Given the description of an element on the screen output the (x, y) to click on. 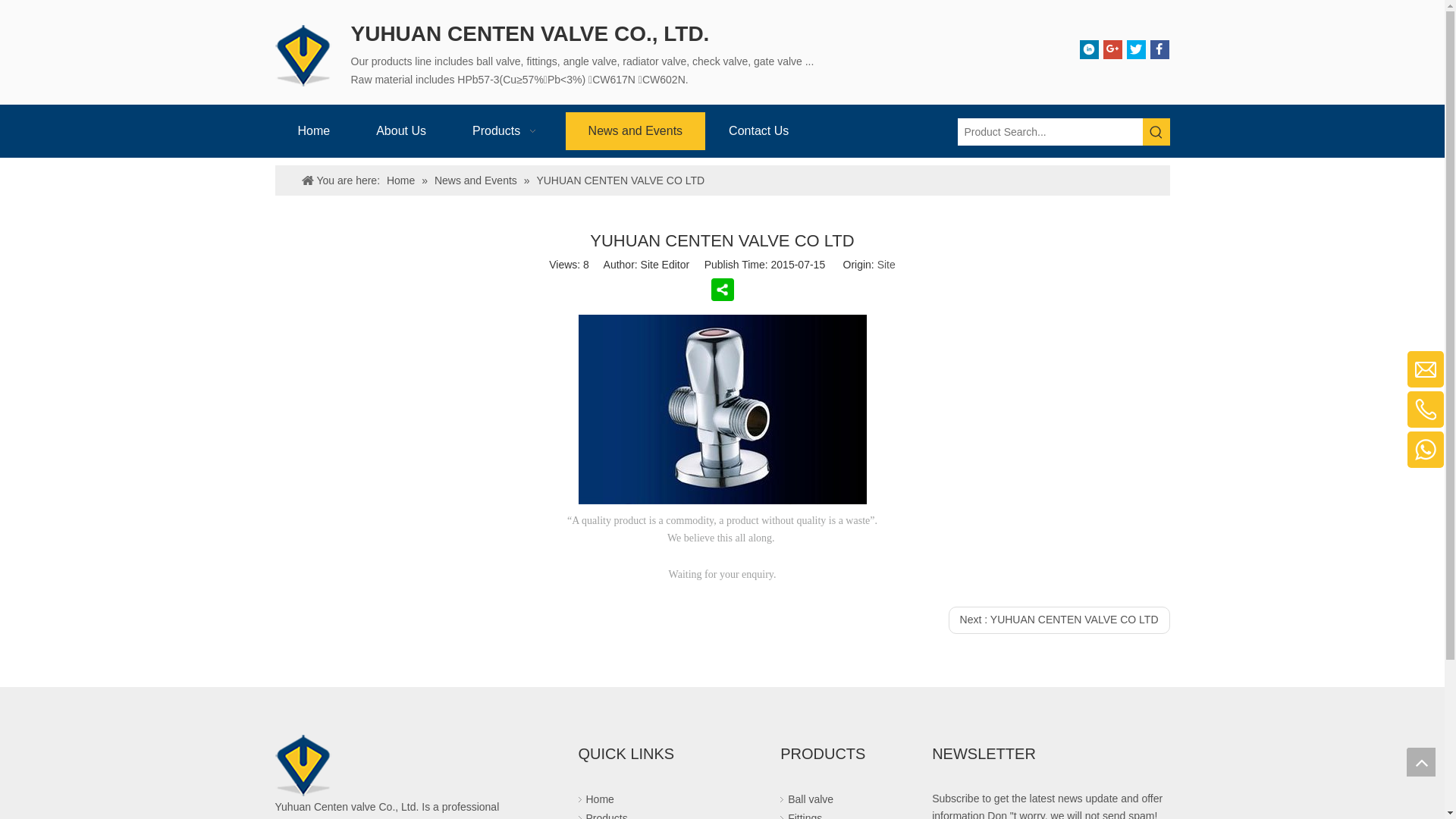
YUHUAN CENTEN VALVE CO., LTD. Element type: hover (304, 54)
Whatsapp: 0086 139 6764 1314 Element type: text (1317, 456)
Ball valve Element type: text (810, 799)
Contact Us Element type: text (758, 131)
E-mail: info@vtm.cc Element type: text (1345, 376)
Next : YUHUAN CENTEN VALVE CO LTD Element type: text (1059, 619)
Twitter Element type: hover (1135, 49)
Mobile: 0086 139 6764 1314 Element type: text (1325, 416)
top Element type: text (1420, 761)
Home Element type: text (599, 799)
News and Events Element type: text (635, 131)
Linkedin Element type: hover (1088, 49)
Home Element type: text (313, 131)
Facebook Element type: hover (1158, 49)
Products   Element type: text (506, 131)
About Us Element type: text (400, 131)
YUHUAN CENTEN VALVE CO., LTD. Element type: hover (304, 764)
Google+ Element type: hover (1112, 49)
Home Element type: text (401, 180)
News and Events Element type: text (477, 180)
Site Element type: text (886, 264)
